Given the description of an element on the screen output the (x, y) to click on. 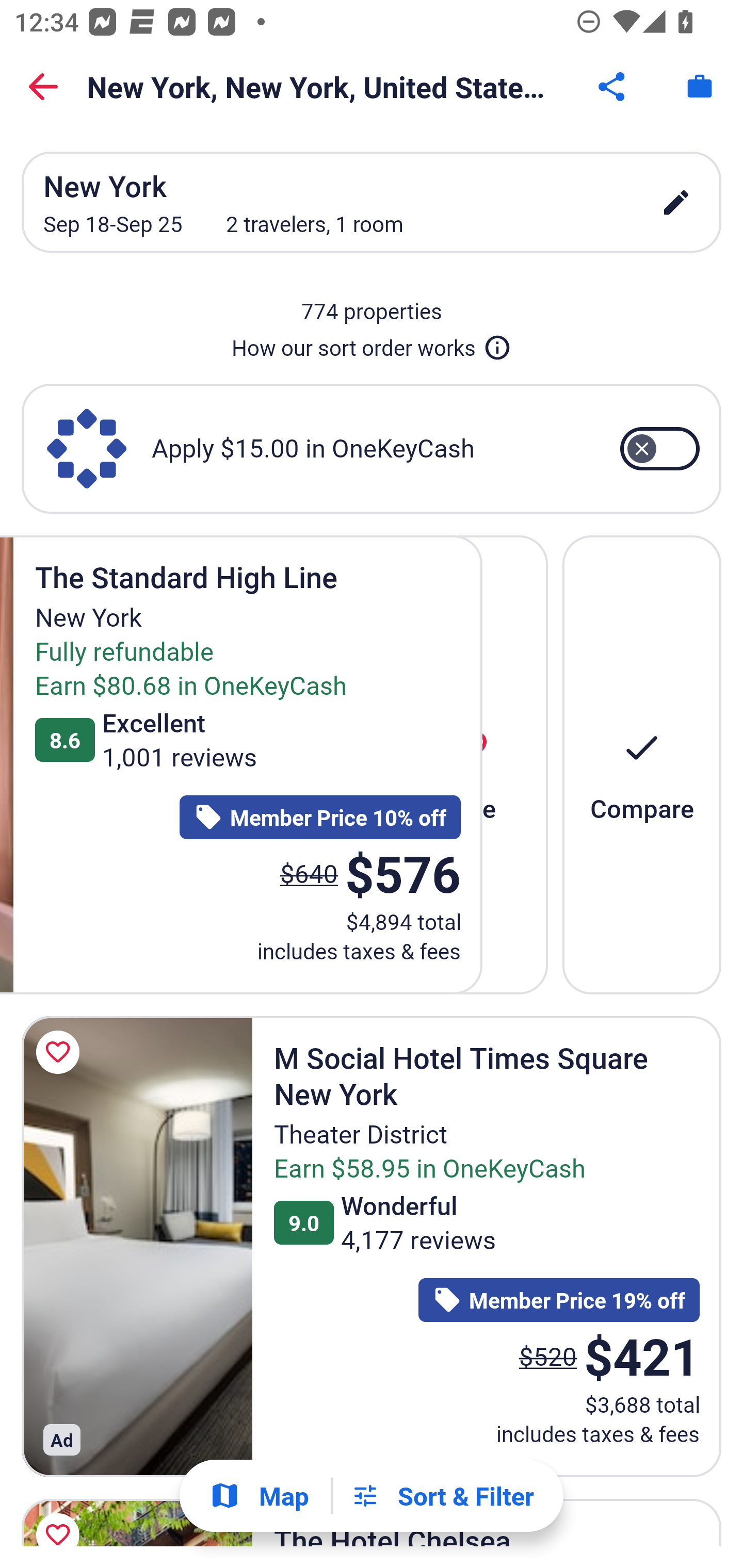
Back (43, 86)
Share Button (612, 86)
Trips. Button (699, 86)
New York Sep 18-Sep 25 2 travelers, 1 room edit (371, 202)
How our sort order works (371, 344)
Compare (641, 764)
$640 The price was $640 (308, 873)
M Social Hotel Times Square New York (136, 1246)
$520 The price was $520 (547, 1355)
Filters Sort & Filter Filters Button (442, 1495)
Show map Map Show map Button (258, 1495)
Save The Hotel Chelsea to a trip (61, 1518)
